Given the description of an element on the screen output the (x, y) to click on. 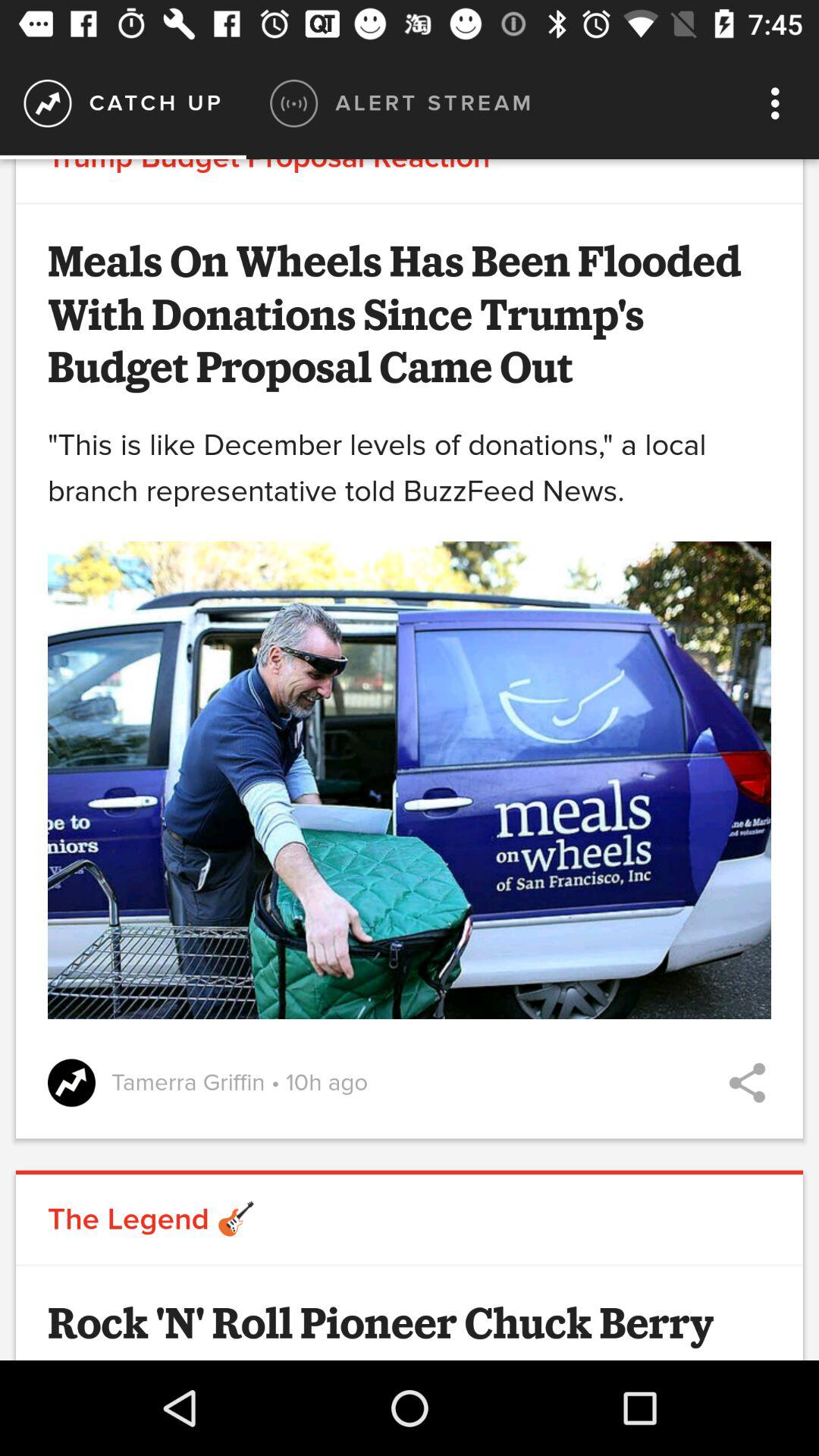
tap item next to the tamerra griffin 10h icon (747, 1082)
